Given the description of an element on the screen output the (x, y) to click on. 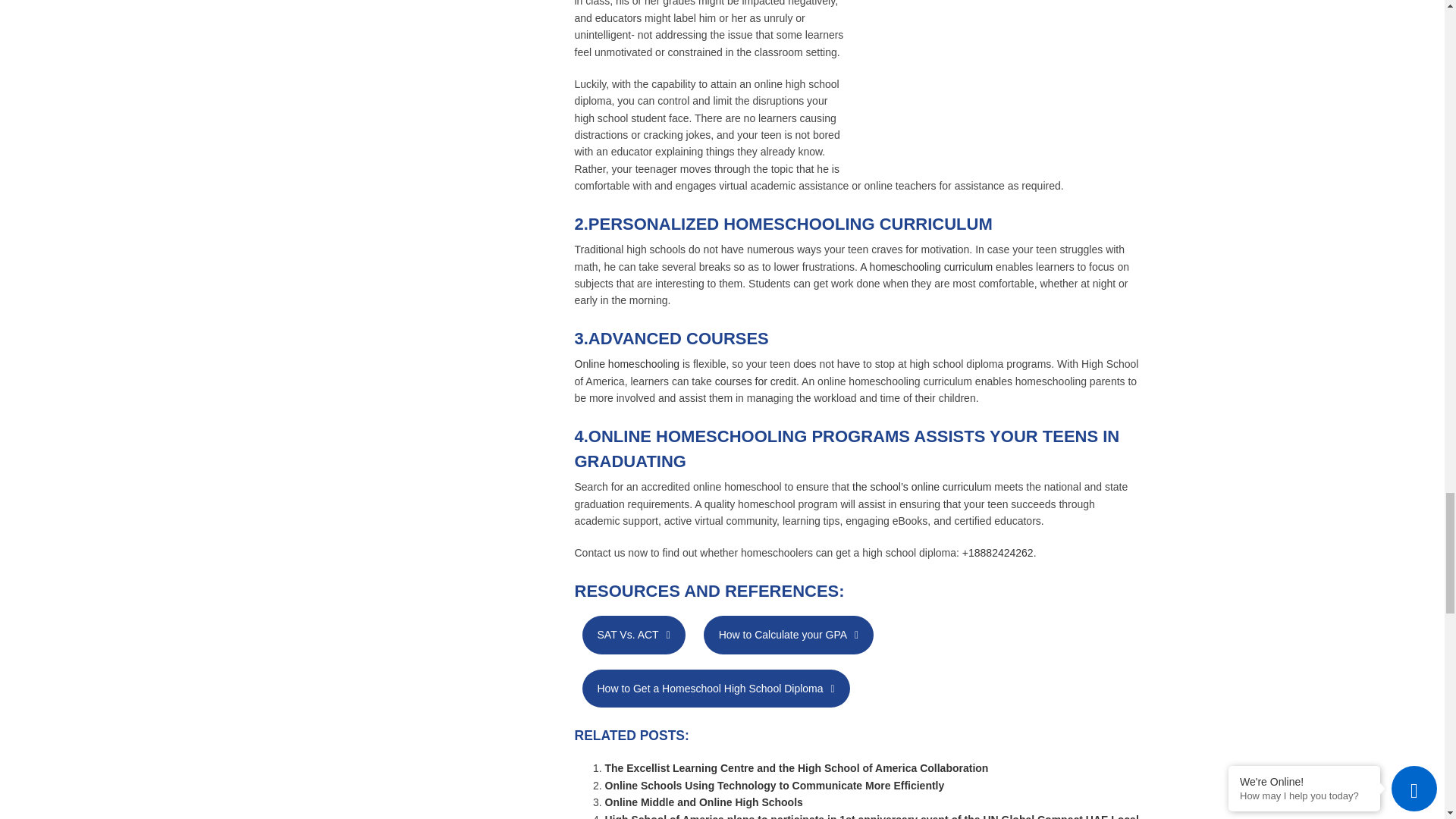
Online Middle and Online High Schools (704, 802)
